Given the description of an element on the screen output the (x, y) to click on. 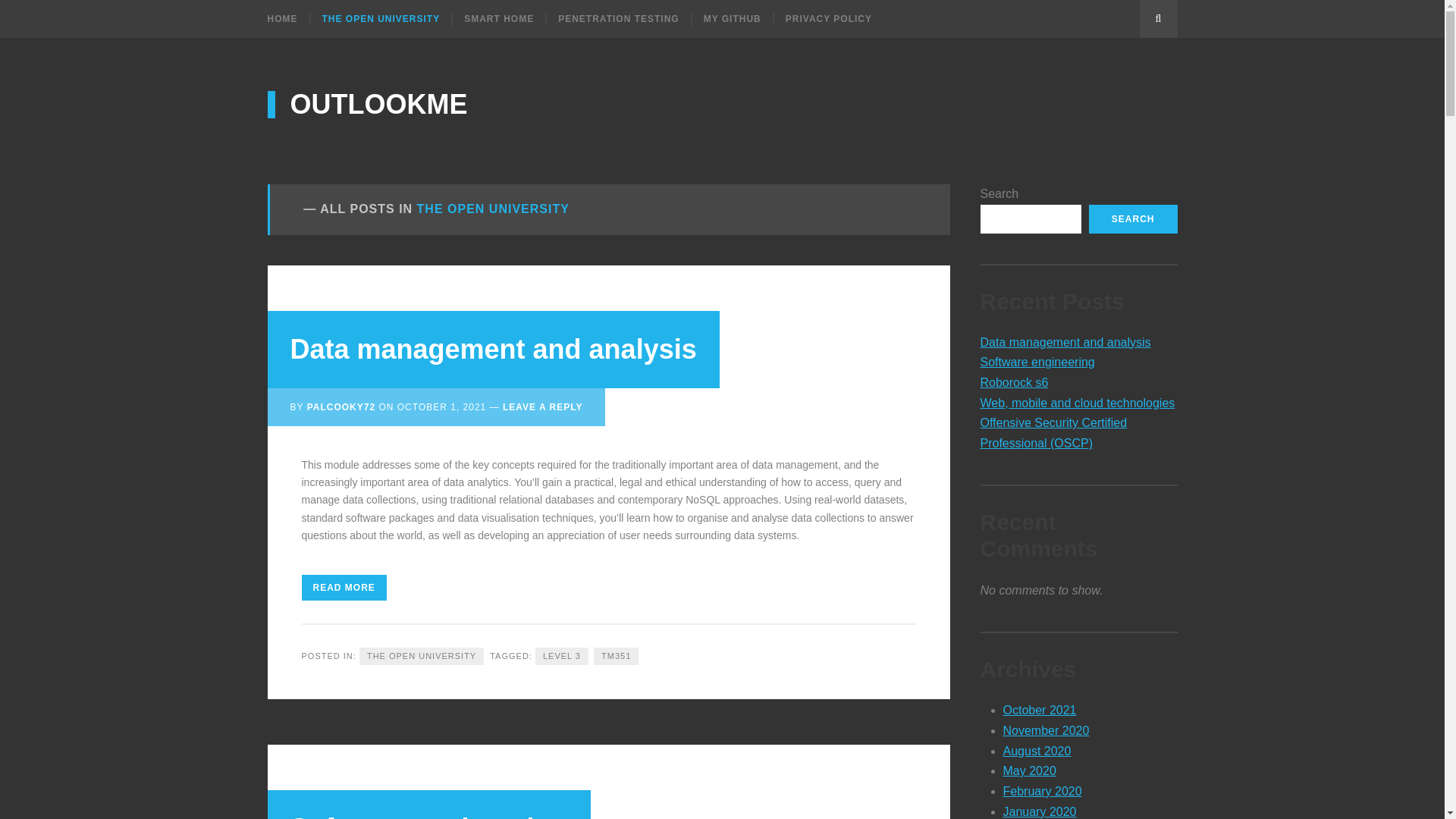
Search (1157, 18)
Data management and analysis (492, 348)
PRIVACY POLICY (828, 18)
OUTLOOKME (366, 103)
MY GITHUB (731, 18)
LEVEL 3 (561, 656)
SMART HOME (497, 18)
LEAVE A REPLY (542, 407)
THE OPEN UNIVERSITY (379, 18)
Software engineering (428, 816)
HOME (287, 18)
READ MORE (344, 587)
THE OPEN UNIVERSITY (421, 656)
PENETRATION TESTING (617, 18)
TM351 (616, 656)
